Given the description of an element on the screen output the (x, y) to click on. 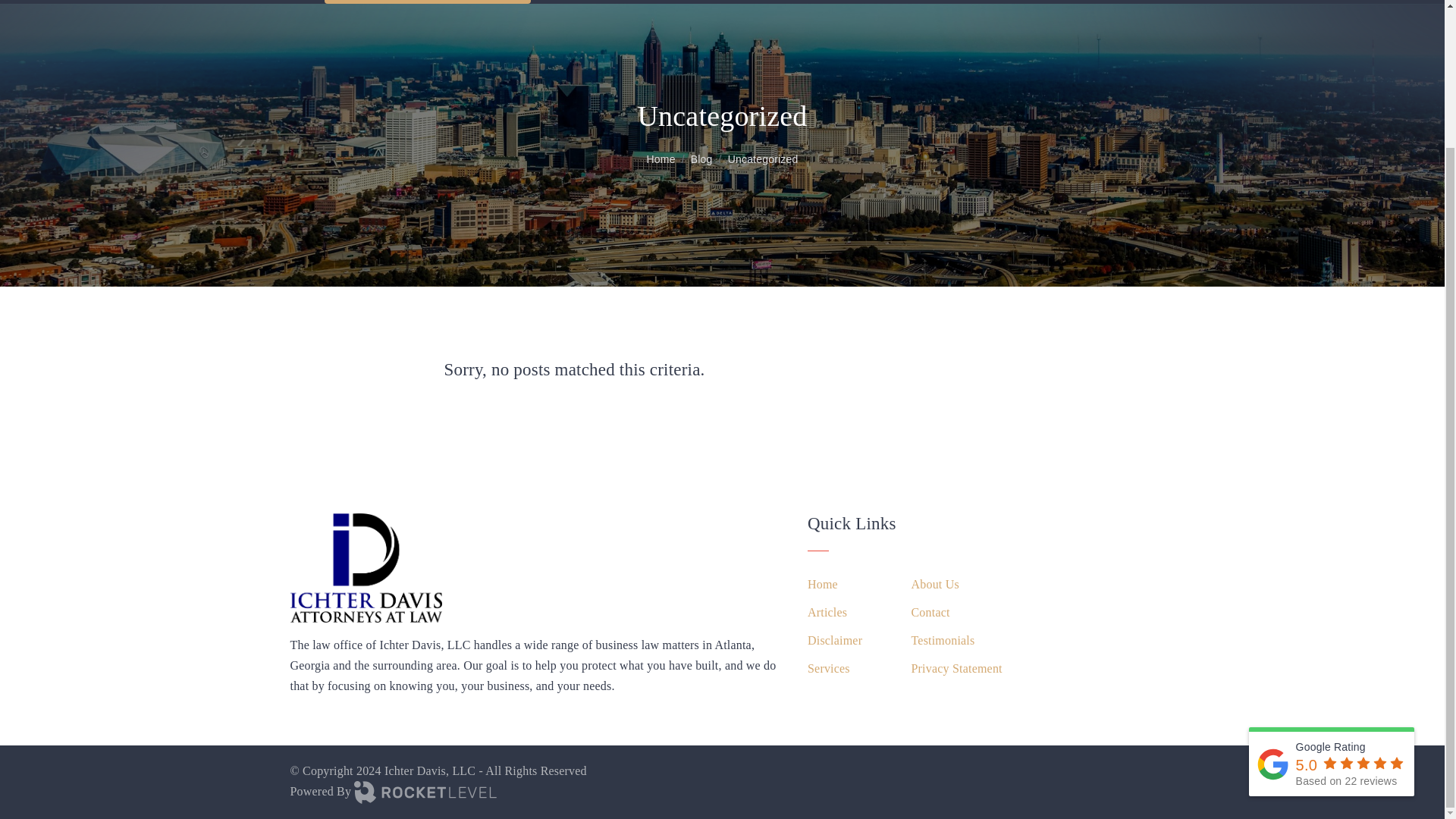
Services (829, 668)
Articles (827, 611)
Privacy Statement (956, 668)
SCHEDULE A VIDEO CONFERENCE (427, 2)
Home (660, 159)
Testimonials (942, 639)
Blog (701, 159)
Home (823, 584)
Disclaimer (834, 639)
About Us (934, 584)
Contact (930, 611)
